Given the description of an element on the screen output the (x, y) to click on. 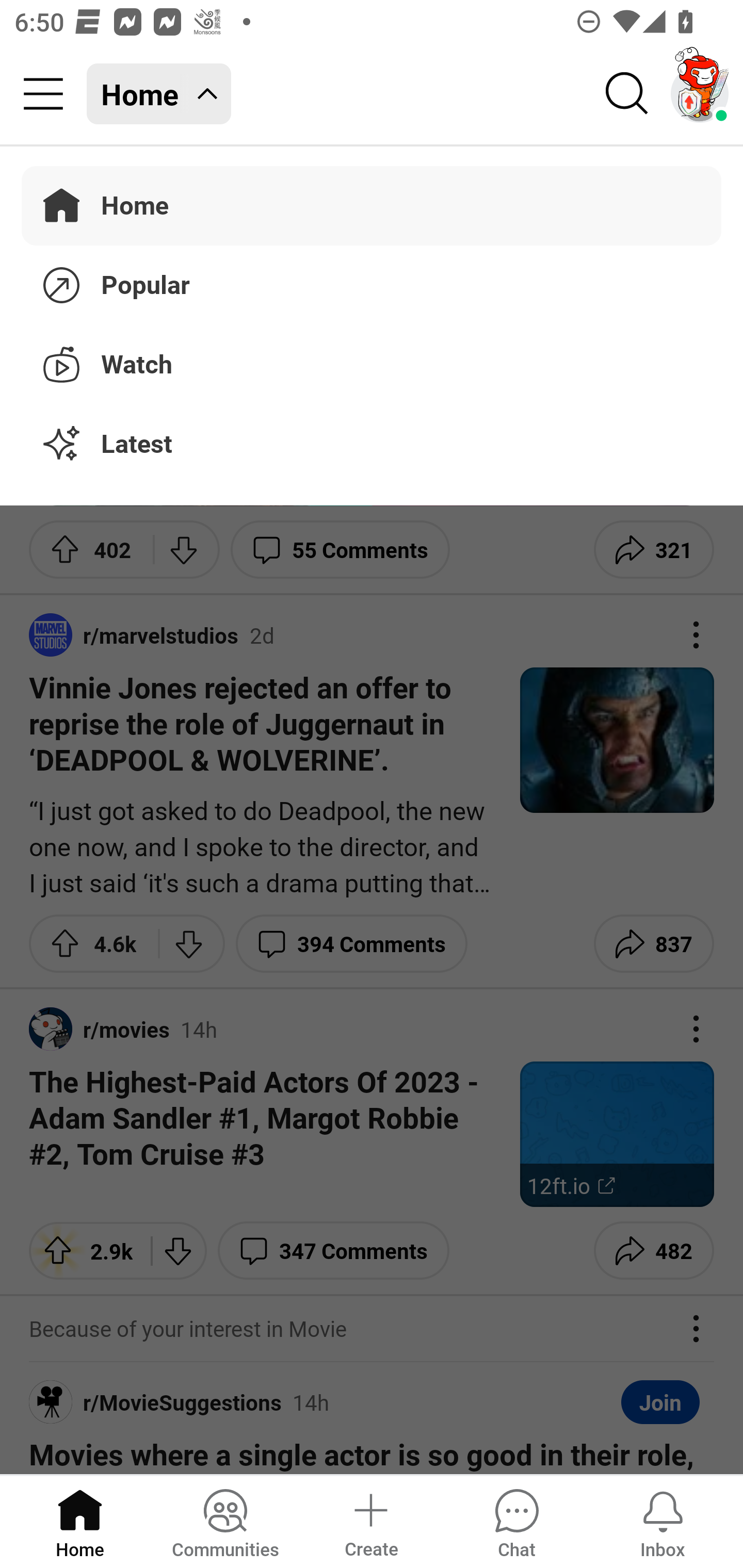
Community menu (43, 93)
Home Home feed (158, 93)
Search (626, 93)
TestAppium002 account (699, 93)
Popular Popular feed (371, 281)
Watch Watch feed (371, 361)
Latest Latest feed (371, 444)
Home (80, 1520)
Communities (225, 1520)
Create a post Create (370, 1520)
Chat (516, 1520)
Inbox (662, 1520)
